Given the description of an element on the screen output the (x, y) to click on. 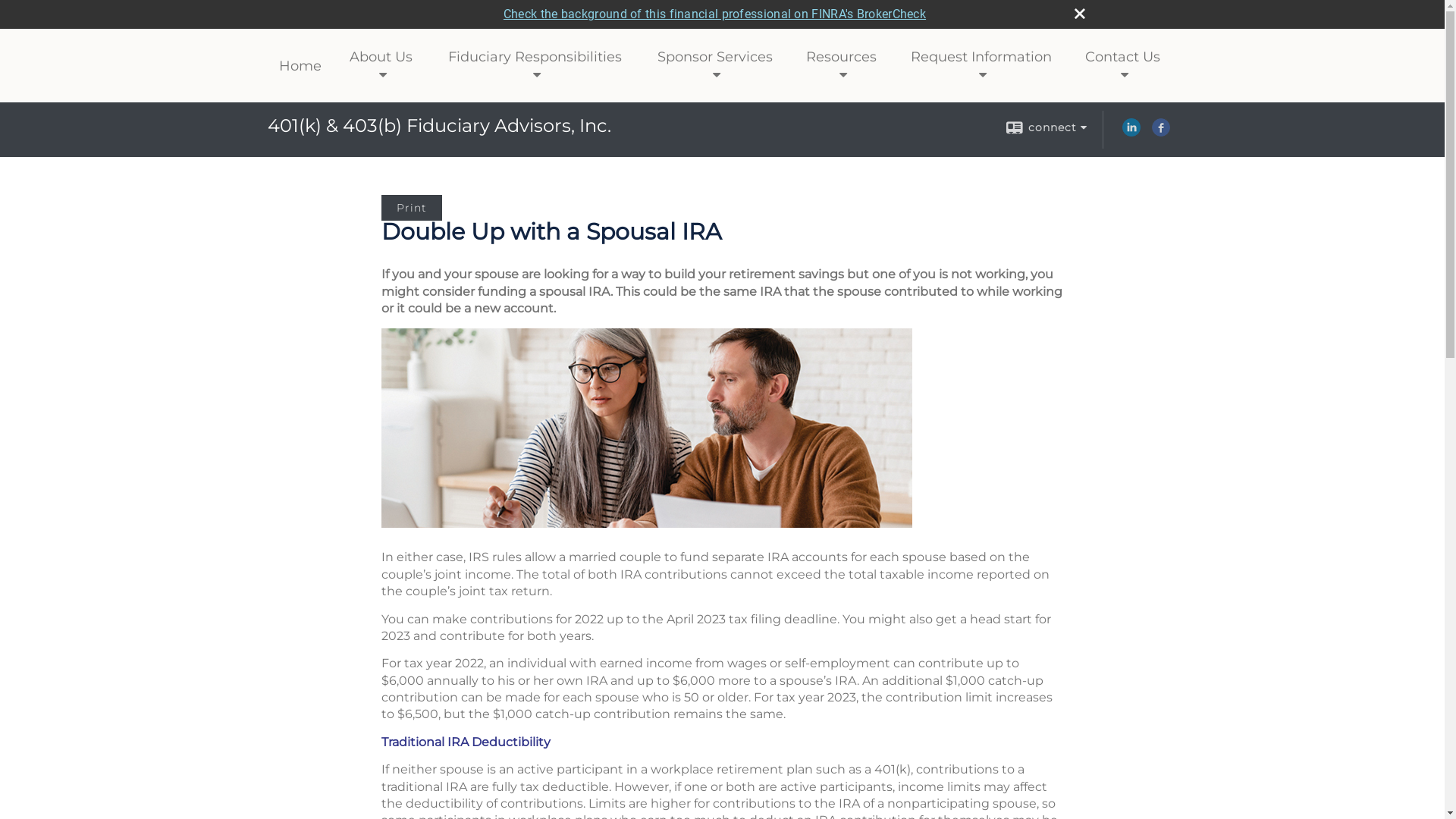
Resources Element type: text (841, 65)
Print Element type: text (410, 207)
Fiduciary Responsibilities Element type: text (534, 65)
connect Element type: text (1046, 127)
About Us Element type: text (380, 65)
Request Information Element type: text (980, 65)
Home Element type: text (299, 65)
Sponsor Services Element type: text (714, 65)
Contact Us Element type: text (1122, 65)
